Given the description of an element on the screen output the (x, y) to click on. 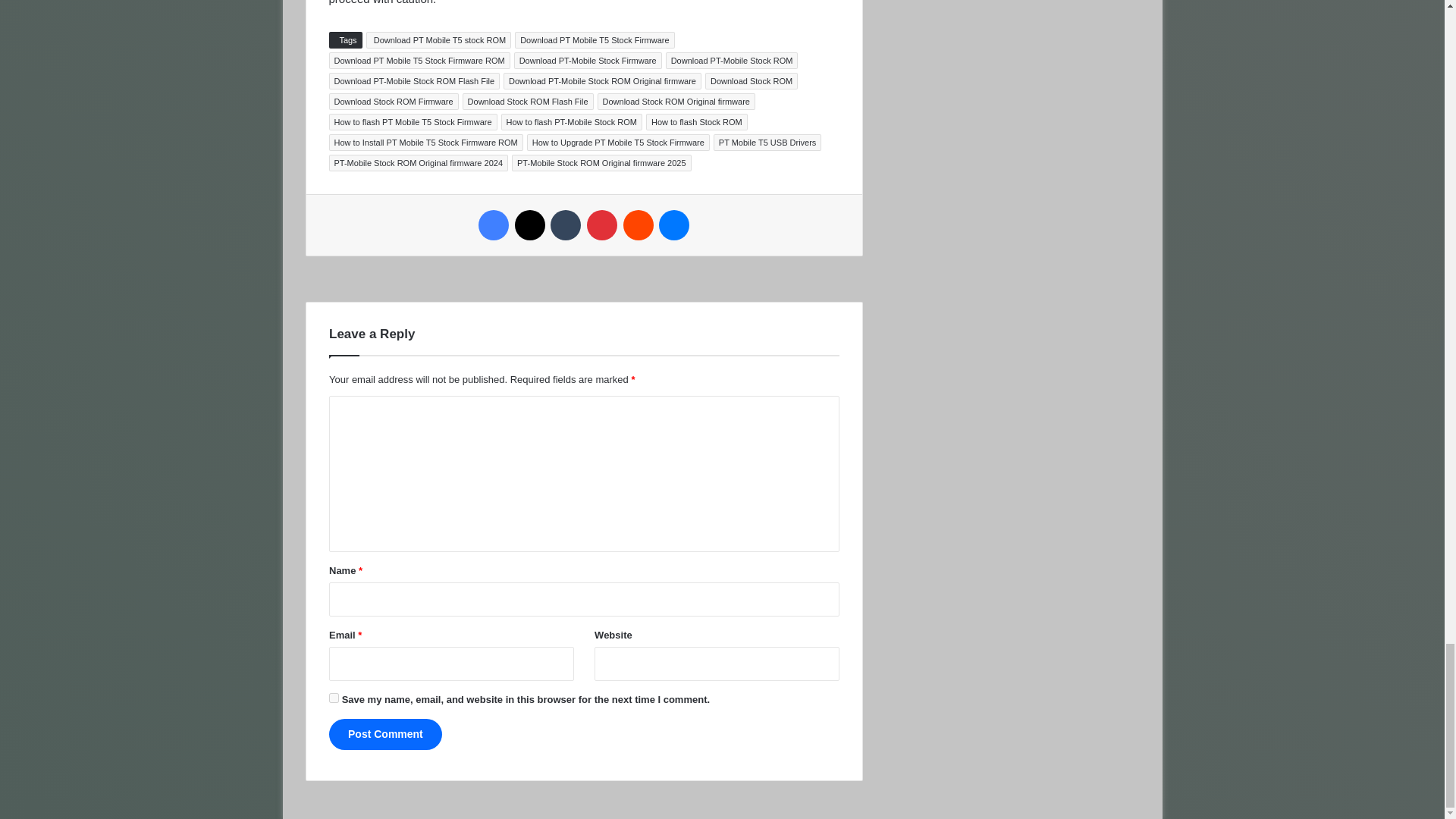
Facebook (493, 224)
Pinterest (601, 224)
Messenger (673, 224)
Tumblr (565, 224)
Reddit (638, 224)
Download PT Mobile T5 Stock Firmware (594, 39)
yes (334, 697)
X (529, 224)
Post Comment (385, 734)
 Download PT Mobile T5 stock ROM (439, 39)
